Given the description of an element on the screen output the (x, y) to click on. 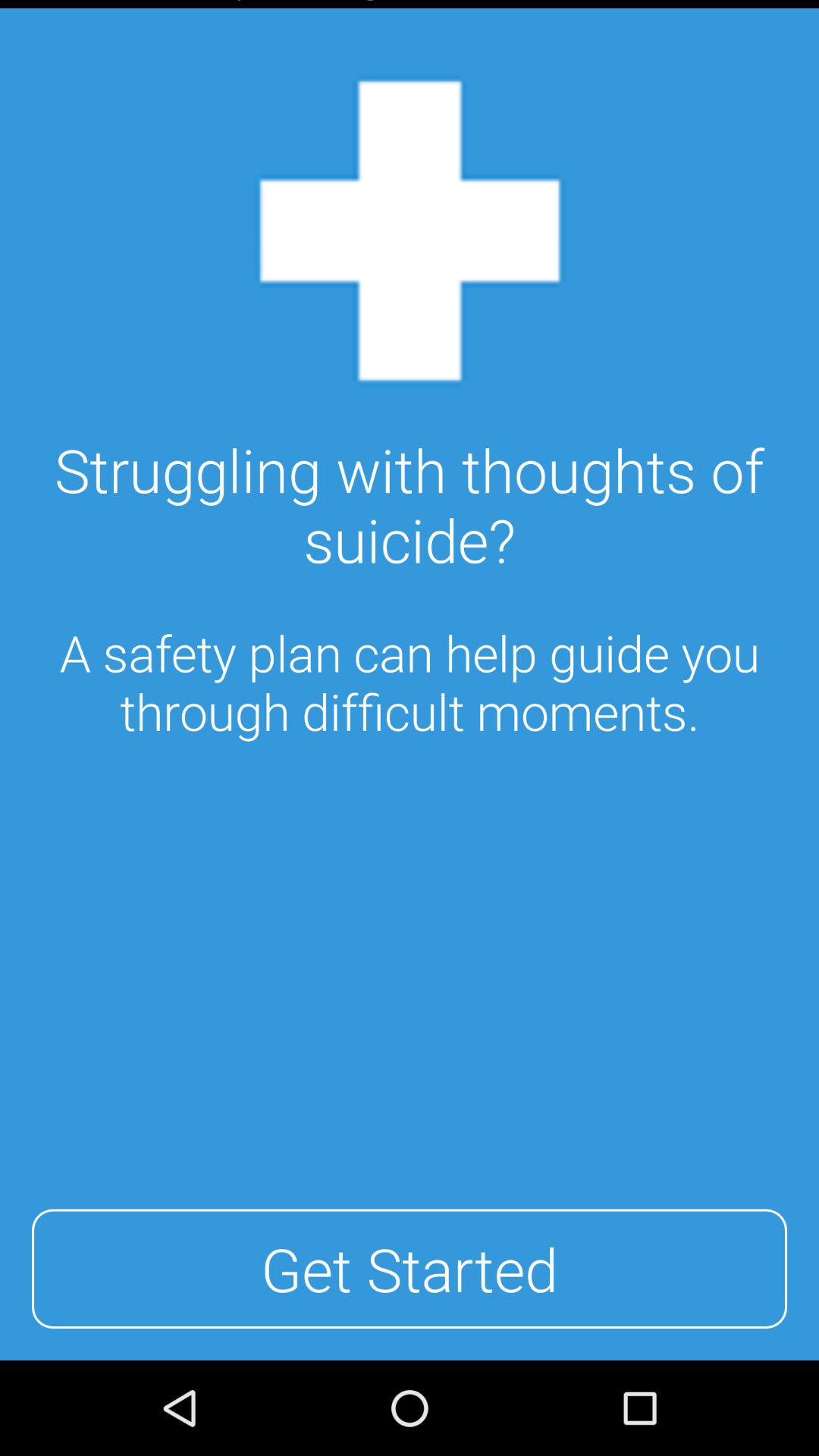
turn on item at the bottom (409, 1268)
